Given the description of an element on the screen output the (x, y) to click on. 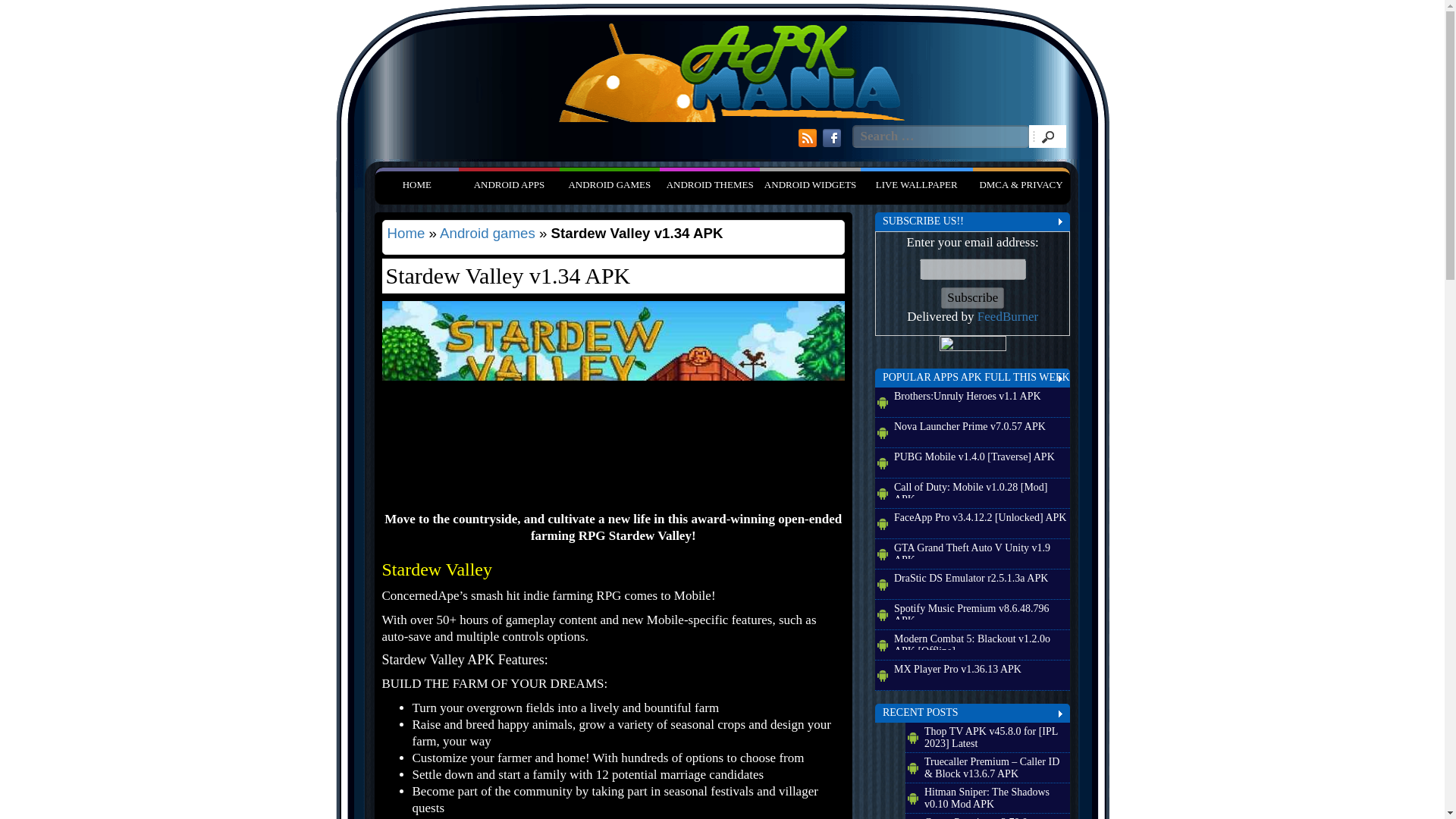
ANDROID GAMES (609, 183)
Subscribe (972, 297)
HOME (416, 183)
ANDROID THEMES (709, 183)
Rss Feed (806, 137)
ANDROID APPS (508, 183)
Brothers:Unruly Heroes v1.1 APK (981, 398)
Nova Launcher Prime v7.0.57 APK (981, 428)
Android Apps (508, 183)
Android games (487, 232)
GTA Grand Theft Auto V Unity v1.9 APK (981, 550)
FeedBurner (1007, 316)
Follow me on Facebook (831, 137)
LIVE WALLPAPER (916, 183)
Home (416, 183)
